Given the description of an element on the screen output the (x, y) to click on. 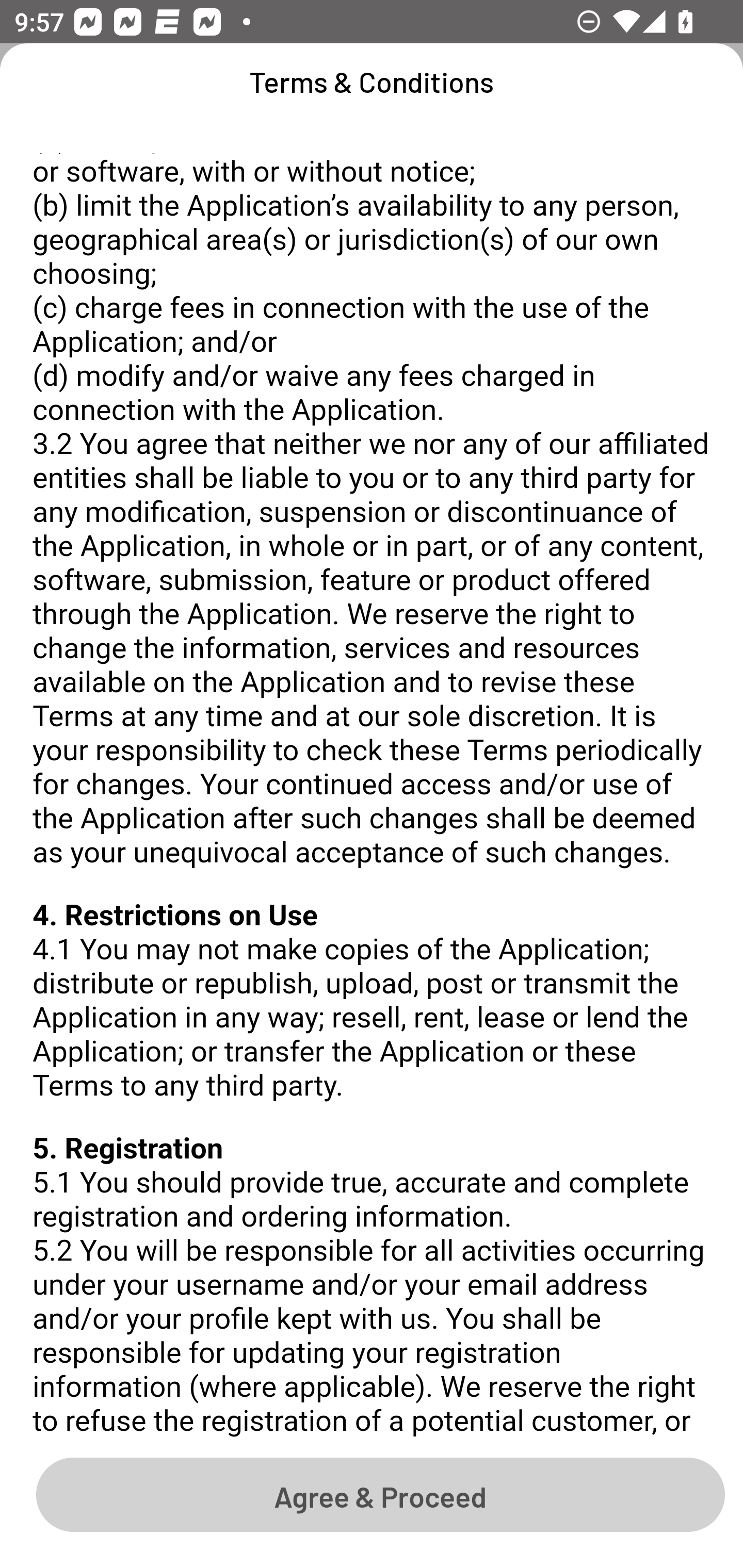
Agree & Proceed (380, 1494)
